Given the description of an element on the screen output the (x, y) to click on. 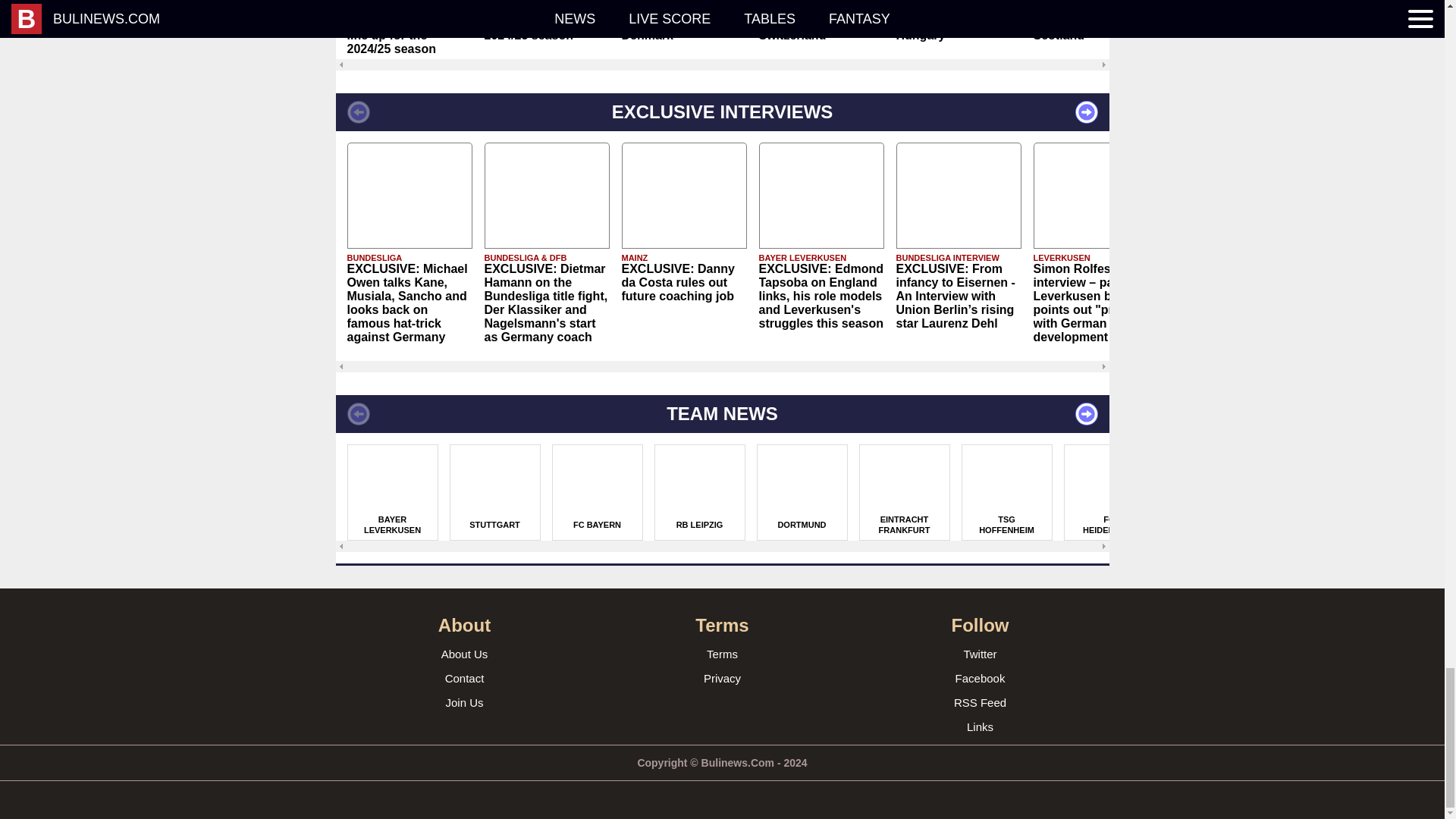
TEAM NEWS (721, 413)
EXCLUSIVE INTERVIEWS (721, 112)
